Given the description of an element on the screen output the (x, y) to click on. 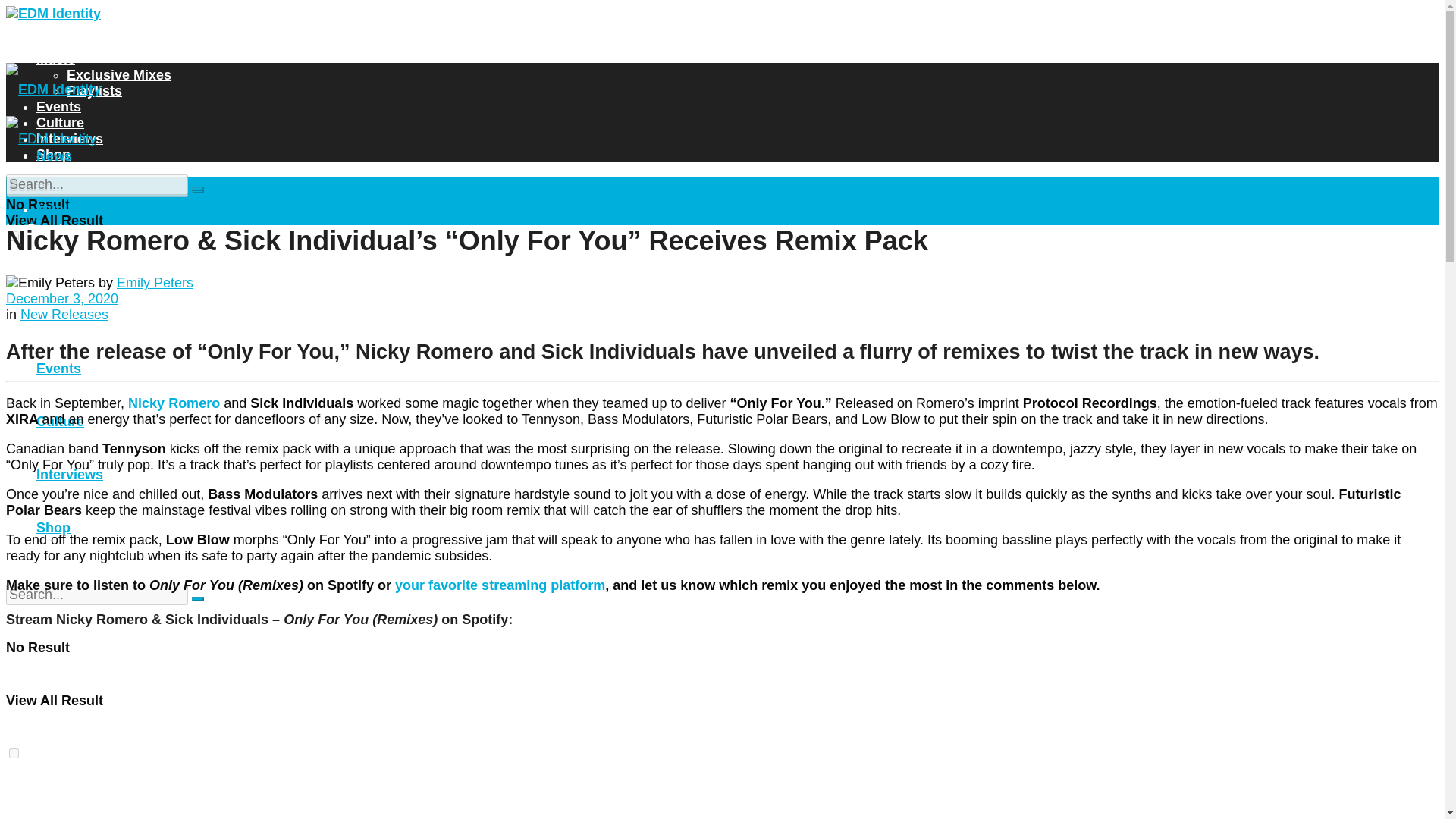
on (13, 235)
Nicky Romero (173, 403)
News (53, 155)
Playlists (94, 90)
Culture (60, 122)
your favorite streaming platform (499, 585)
New Releases (63, 314)
Events (58, 106)
Music (55, 209)
Interviews (69, 138)
